Given the description of an element on the screen output the (x, y) to click on. 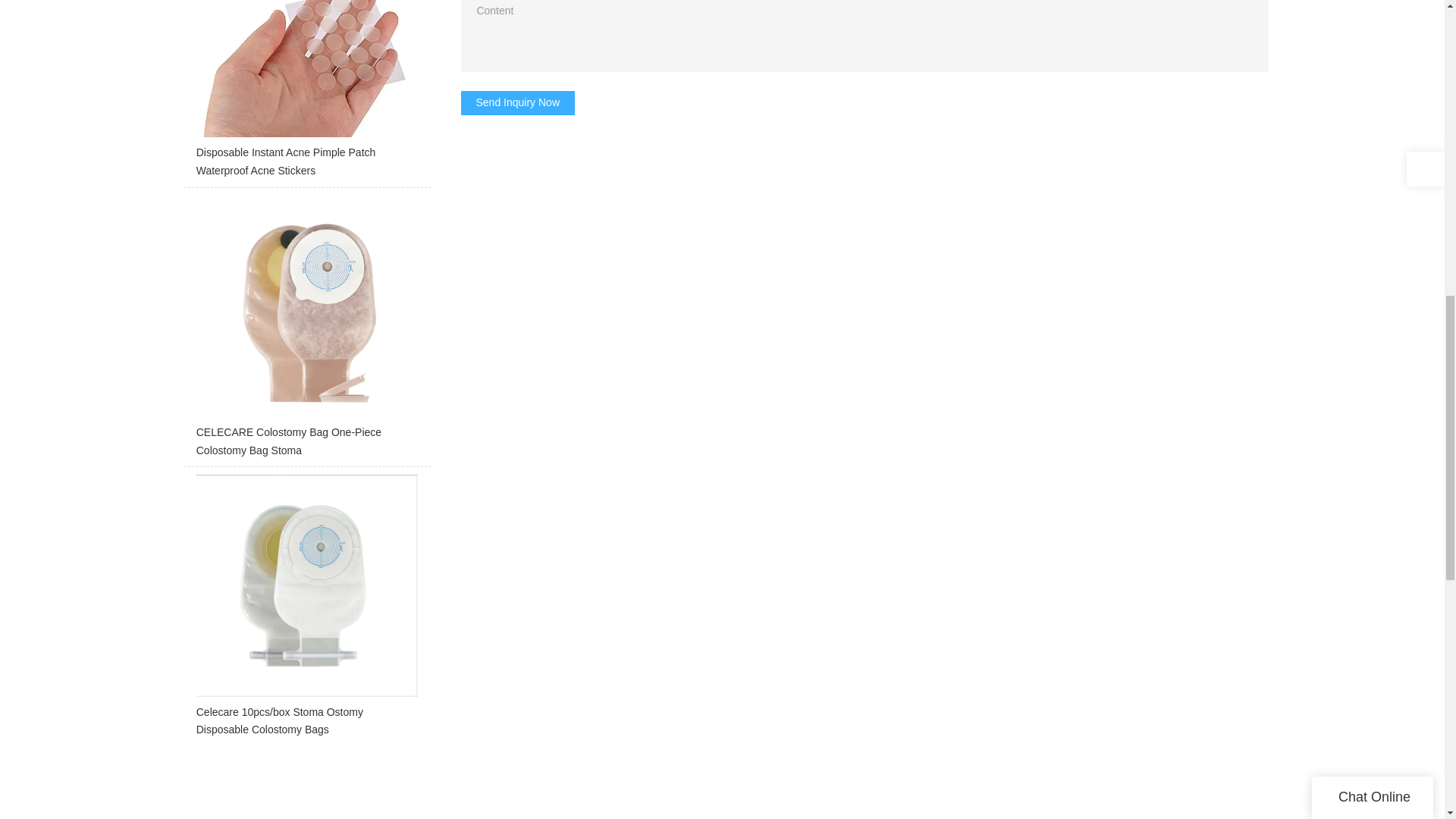
CELECARE Colostomy Bag One-Piece Colostomy Bag Stoma (306, 330)
Send Inquiry Now (518, 102)
